Given the description of an element on the screen output the (x, y) to click on. 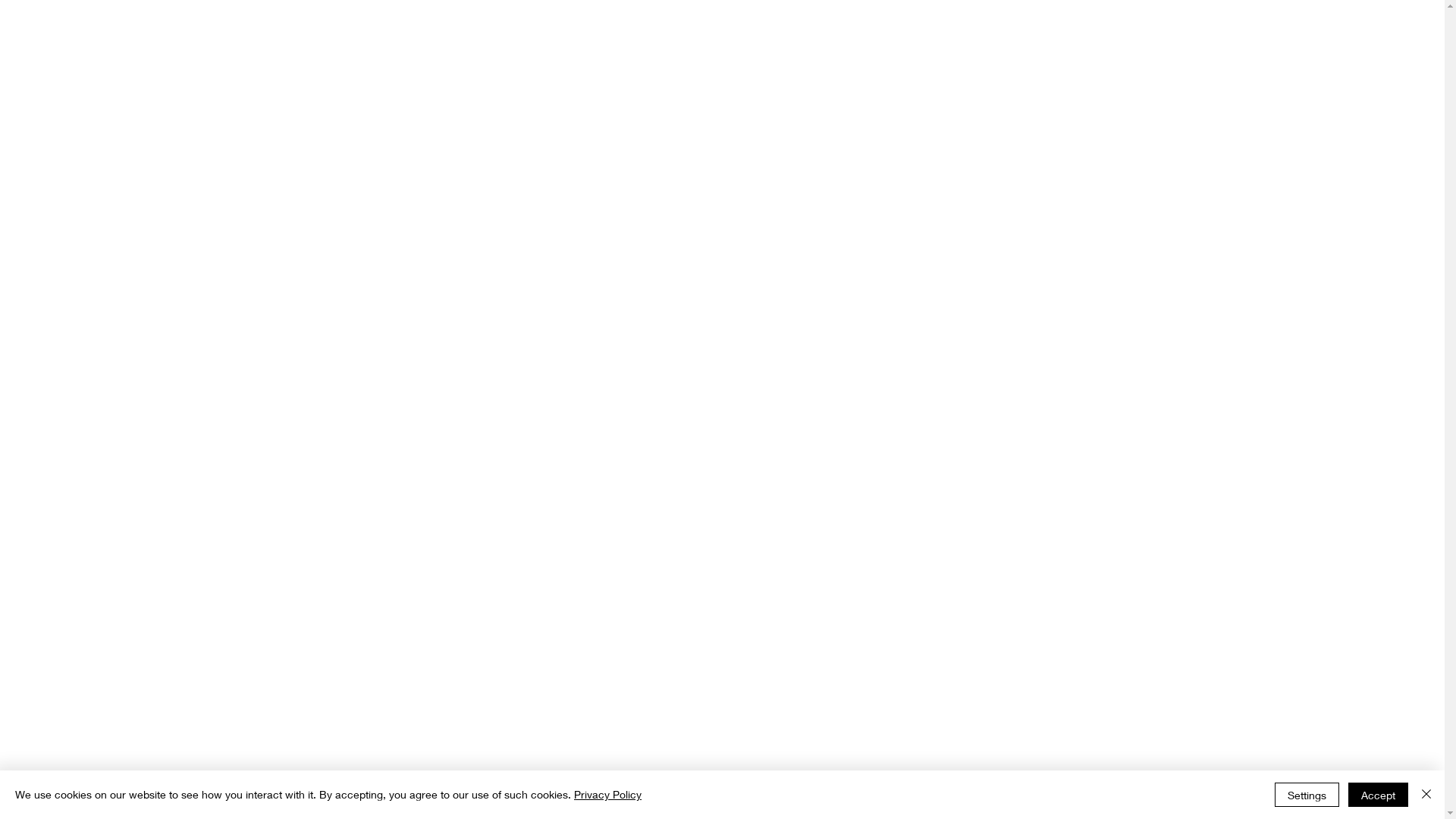
Settings Element type: text (1306, 794)
Accept Element type: text (1378, 794)
Privacy Policy Element type: text (607, 793)
